Given the description of an element on the screen output the (x, y) to click on. 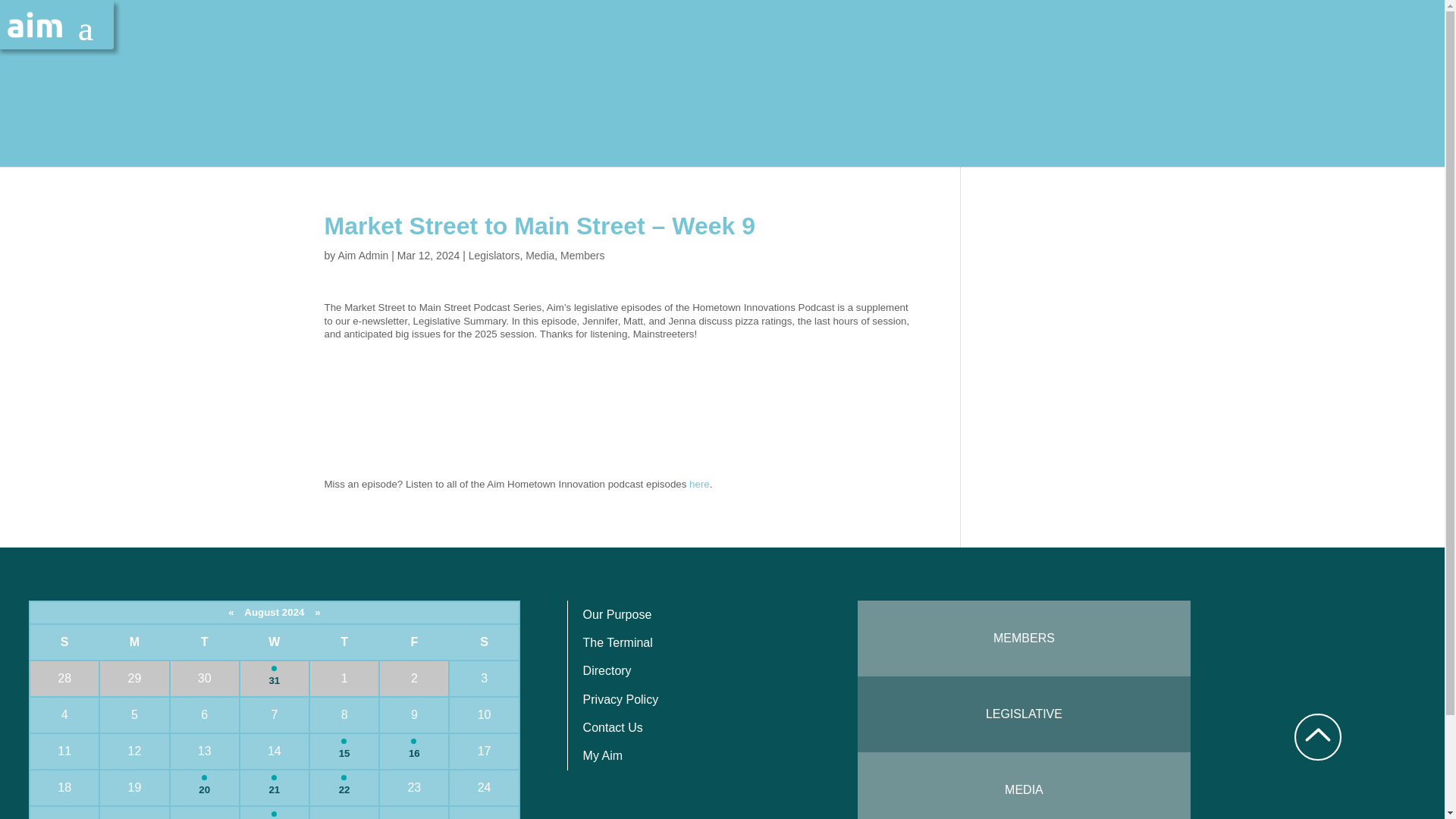
Posts by Aim Admin (362, 255)
White Circle Arrow Up (1317, 736)
Search (21, 9)
Market Street to Main Street: March 12 (617, 407)
